Given the description of an element on the screen output the (x, y) to click on. 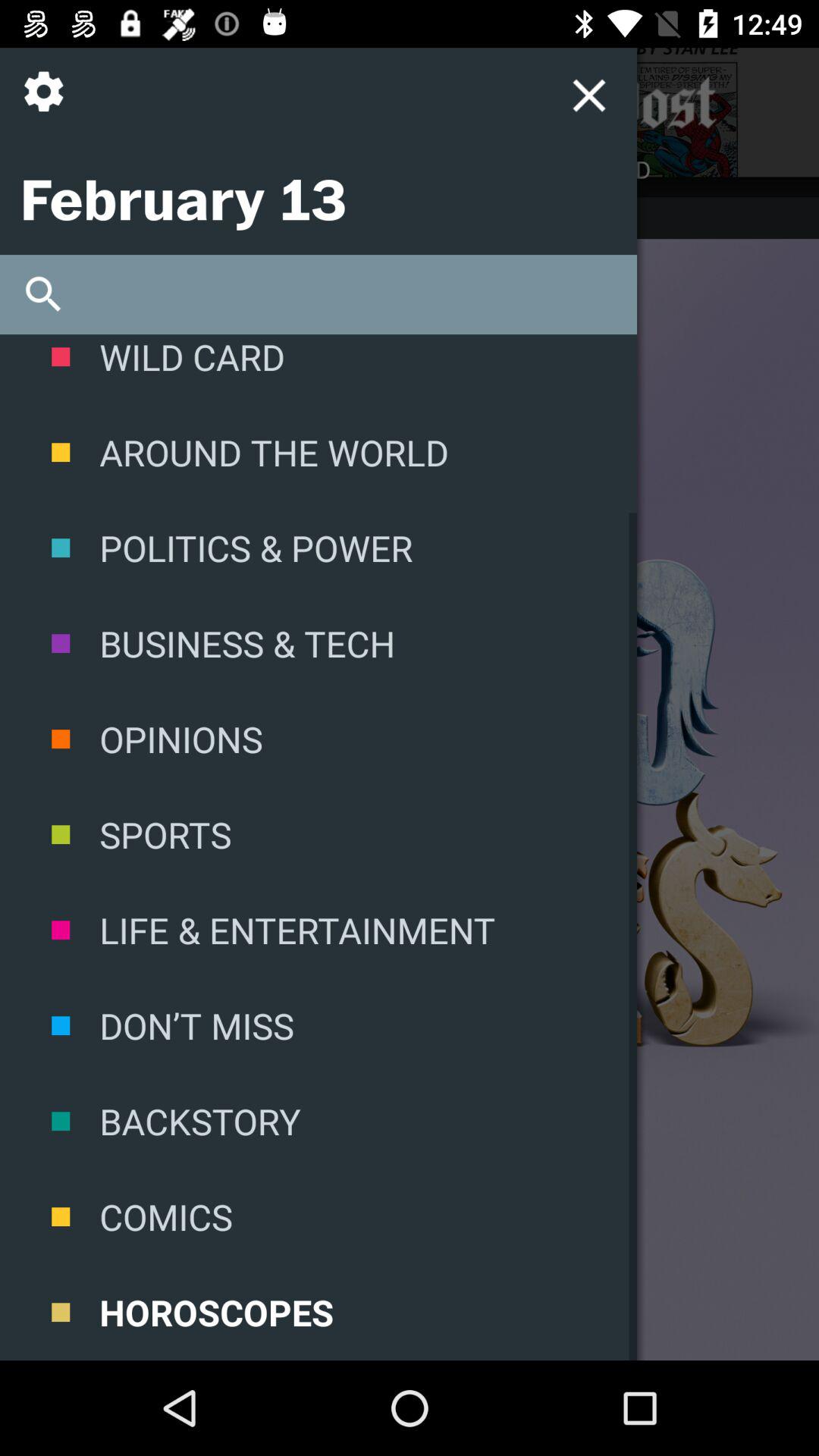
settings (49, 103)
